Given the description of an element on the screen output the (x, y) to click on. 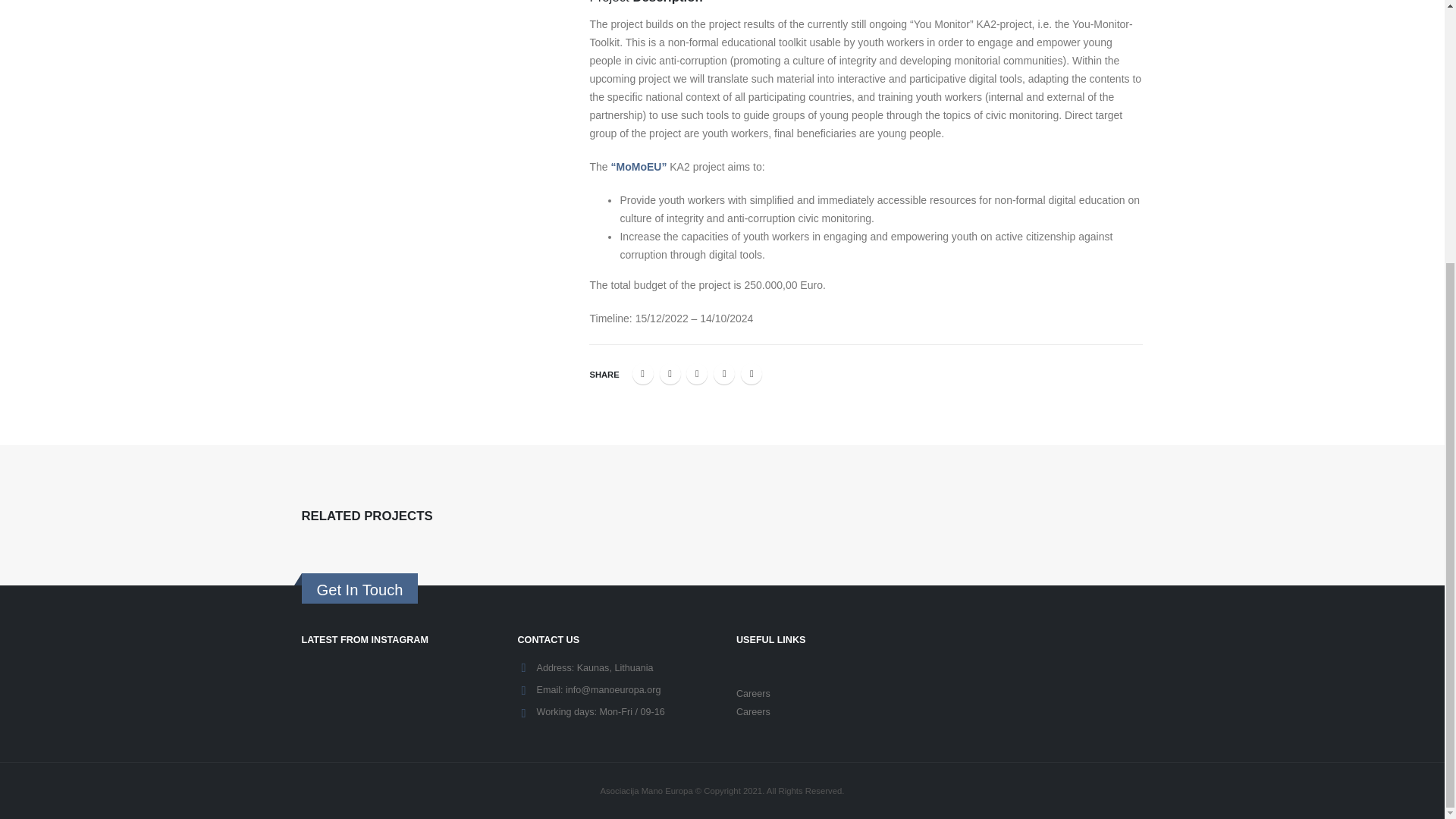
Facebook (642, 373)
LinkedIn (696, 373)
Twitter (670, 373)
LinkedIn (696, 373)
Email (751, 373)
Facebook (642, 373)
Twitter (670, 373)
